Given the description of an element on the screen output the (x, y) to click on. 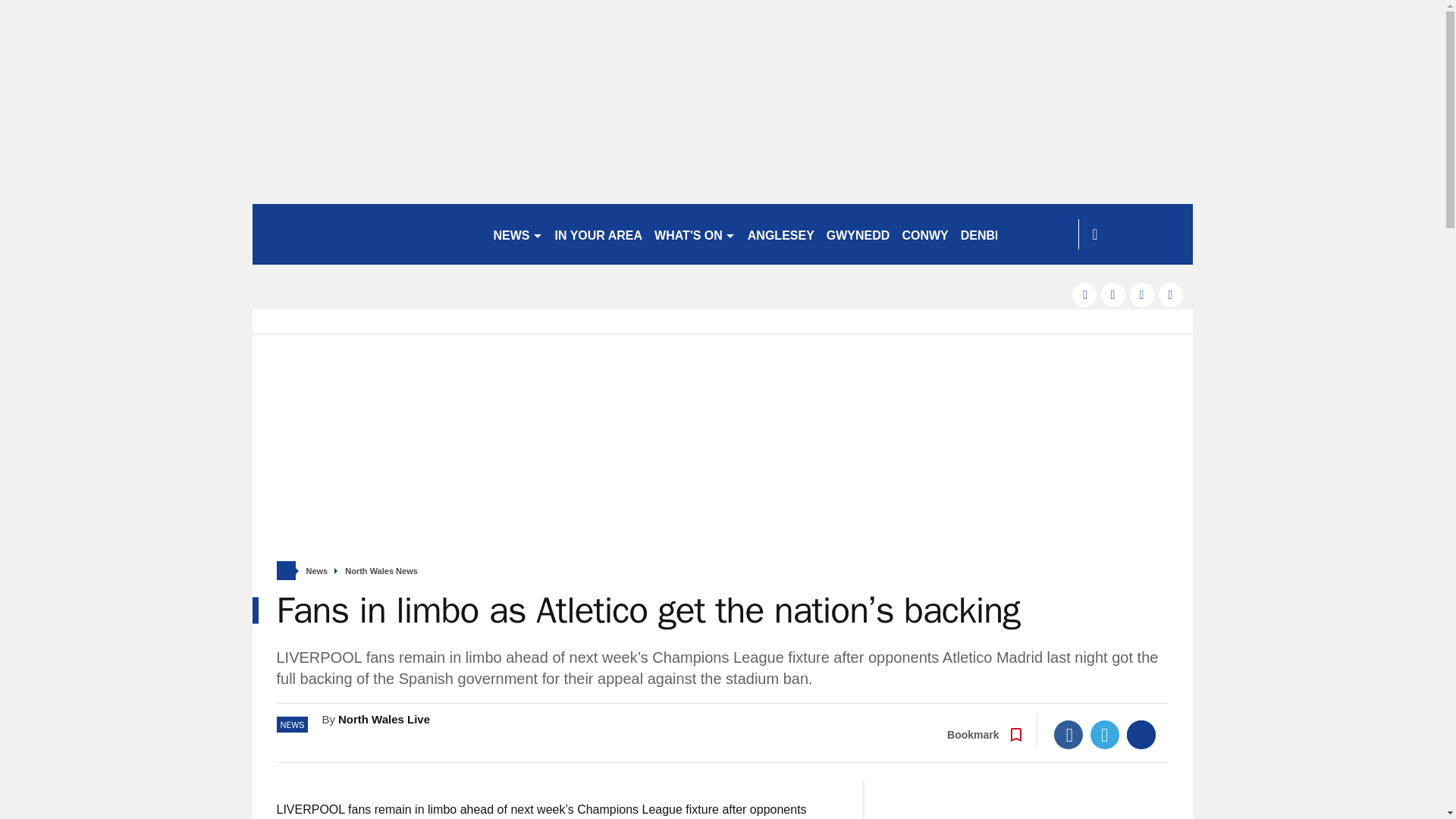
pinterest (1141, 294)
Facebook (1068, 734)
WHAT'S ON (694, 233)
northwales (365, 233)
twitter (1112, 294)
CONWY (924, 233)
DENBIGHSHIRE (1007, 233)
instagram (1170, 294)
Twitter (1104, 734)
ANGLESEY (781, 233)
